Given the description of an element on the screen output the (x, y) to click on. 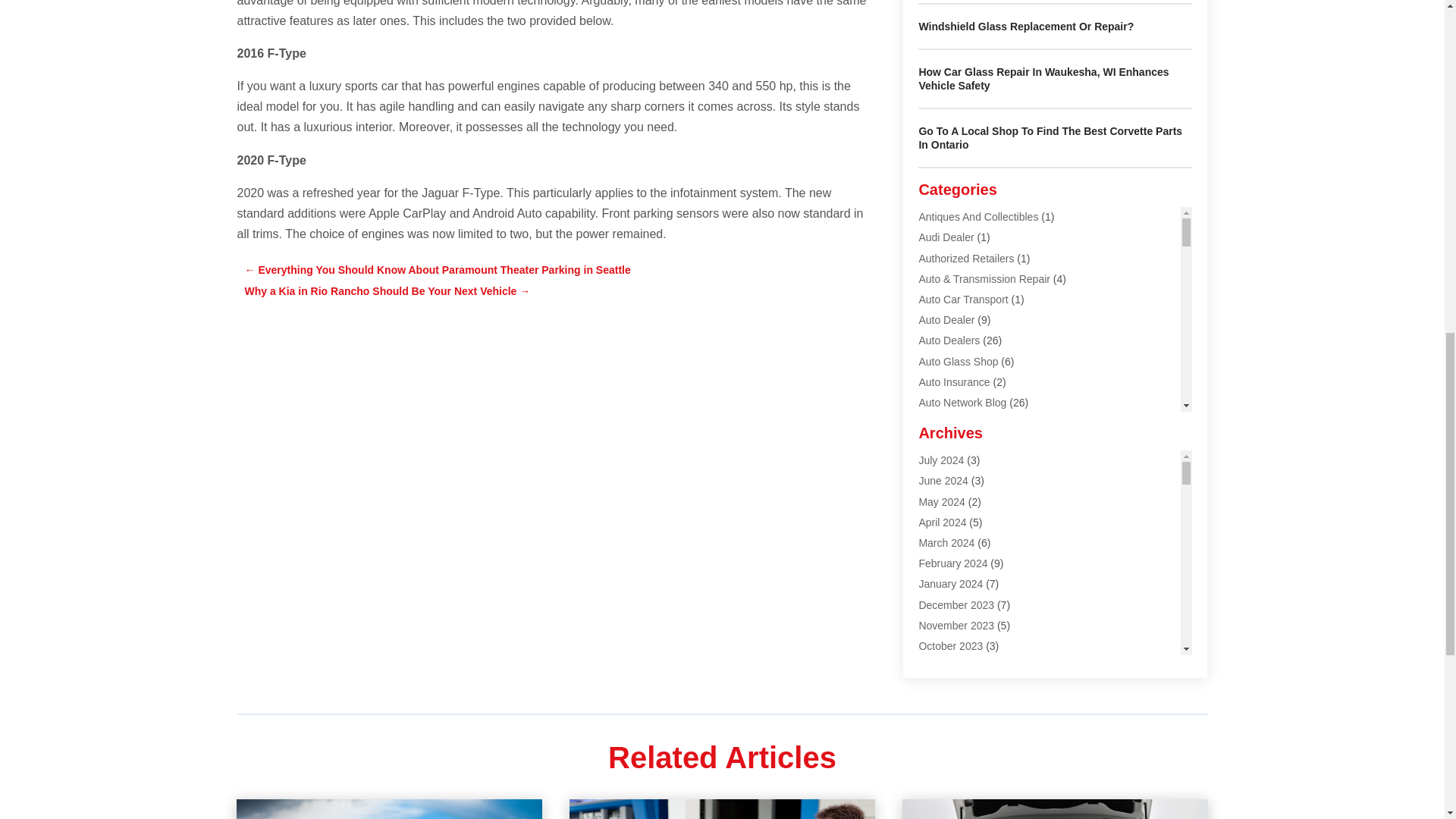
Windshield Glass Replacement Or Repair? (1026, 26)
Authorized Retailers (965, 258)
Antiques And Collectibles (978, 216)
Auto Insurance (954, 381)
Auto Glass Shop (957, 360)
Auto Dealer (946, 319)
How Car Glass Repair In Waukesha, WI Enhances Vehicle Safety (1043, 78)
Auto Dealers (948, 340)
Auto Network Blog (962, 402)
Auto Parts (943, 422)
Audi Dealer (946, 236)
Auto Car Transport (962, 299)
Auto Parts Store (956, 443)
